Given the description of an element on the screen output the (x, y) to click on. 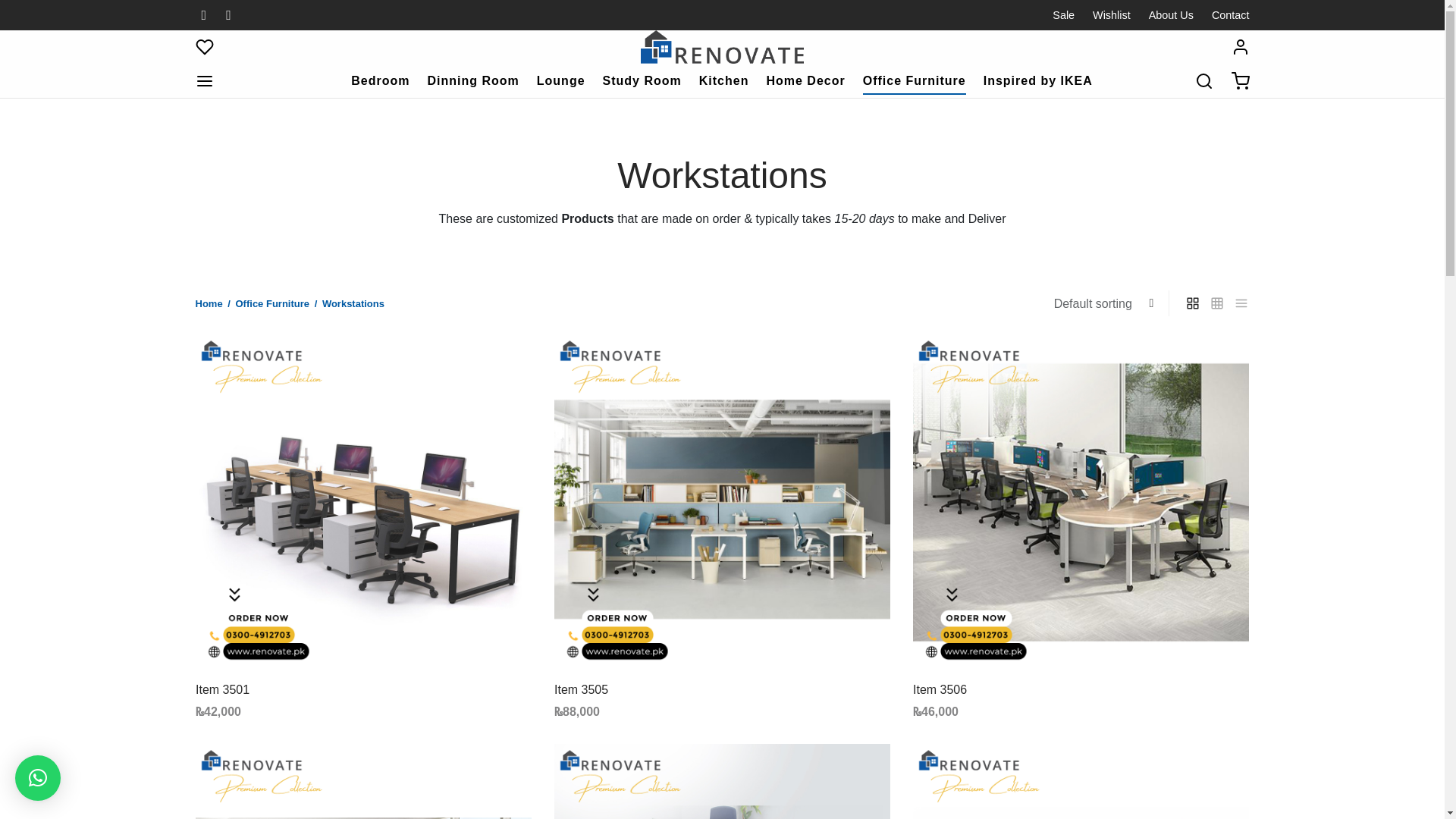
Item 3501 (221, 689)
Cart (1240, 81)
Contact (1226, 14)
Item 3505 (581, 689)
Dinning Room (472, 81)
Sale (1066, 14)
Bedroom (379, 81)
Item 3508 (363, 781)
instagram (228, 14)
About Us (1171, 14)
Wishlist (1111, 14)
Item 3505 (721, 502)
Item 3506 (1080, 502)
Item 3506 (939, 689)
facebook (203, 14)
